Given the description of an element on the screen output the (x, y) to click on. 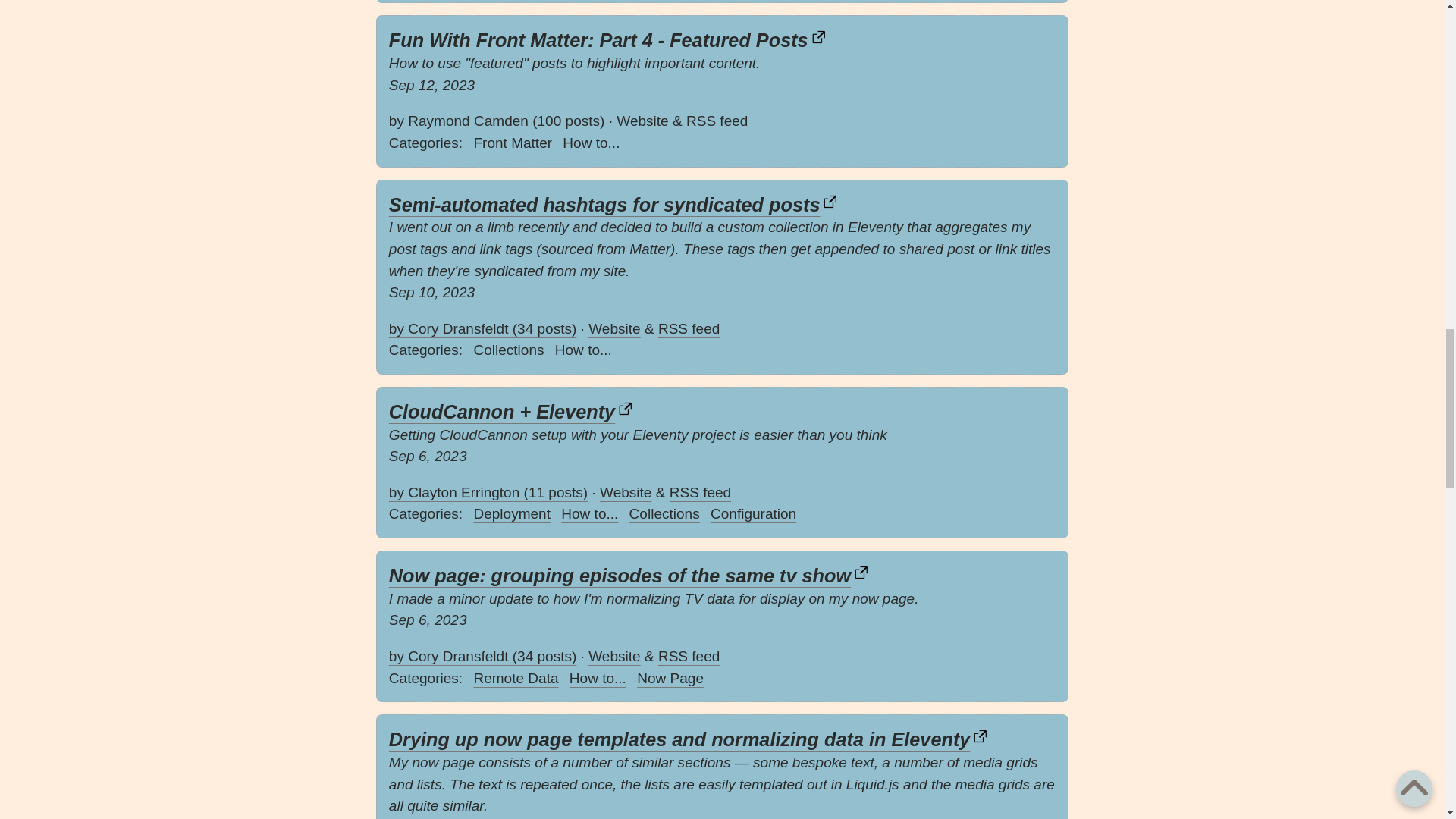
Website (614, 328)
Front Matter (512, 143)
How to... (591, 143)
Fun With Front Matter: Part 4 - Featured Posts (607, 39)
Semi-automated hashtags for syndicated posts (614, 204)
Website (641, 120)
RSS feed (716, 120)
